Given the description of an element on the screen output the (x, y) to click on. 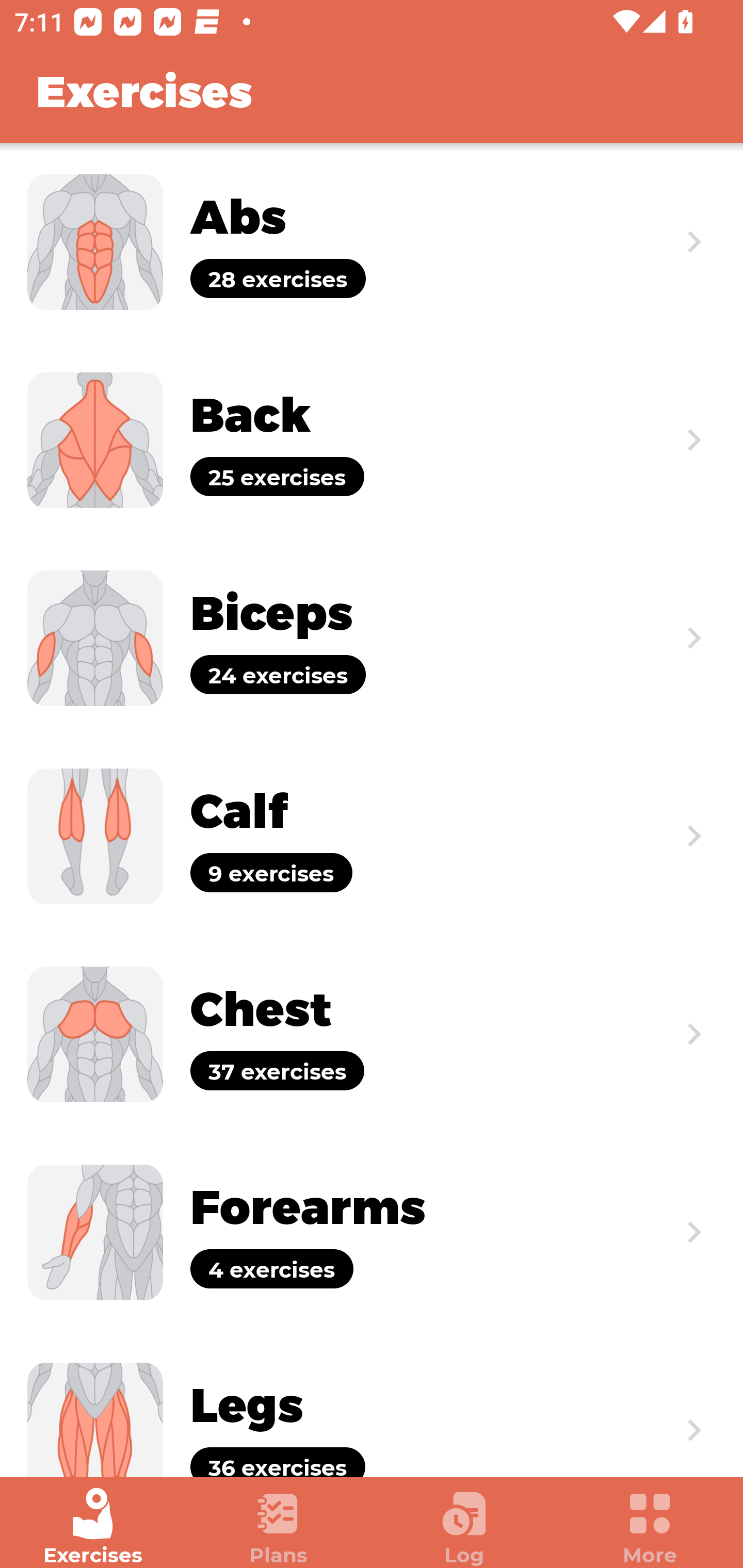
Exercise Abs 28 exercises (371, 241)
Exercise Back 25 exercises (371, 439)
Exercise Biceps 24 exercises (371, 637)
Exercise Calf 9 exercises (371, 836)
Exercise Chest 37 exercises (371, 1033)
Exercise Forearms 4 exercises (371, 1232)
Exercise Legs 36 exercises (371, 1404)
Exercises (92, 1527)
Plans (278, 1527)
Log (464, 1527)
More (650, 1527)
